Given the description of an element on the screen output the (x, y) to click on. 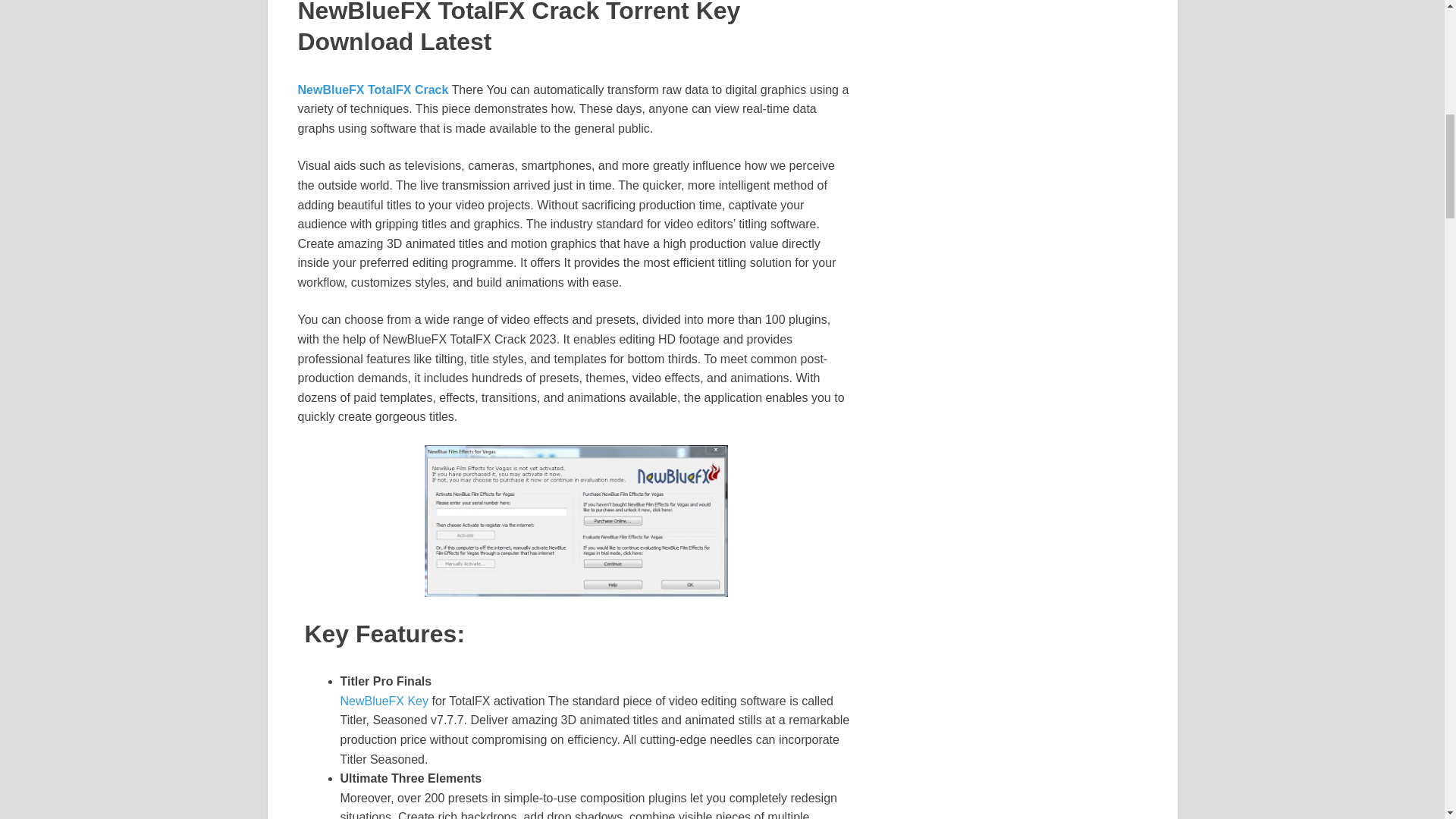
NewBlueFX Key (383, 700)
NewBlueFX TotalFX Crack (372, 89)
